Given the description of an element on the screen output the (x, y) to click on. 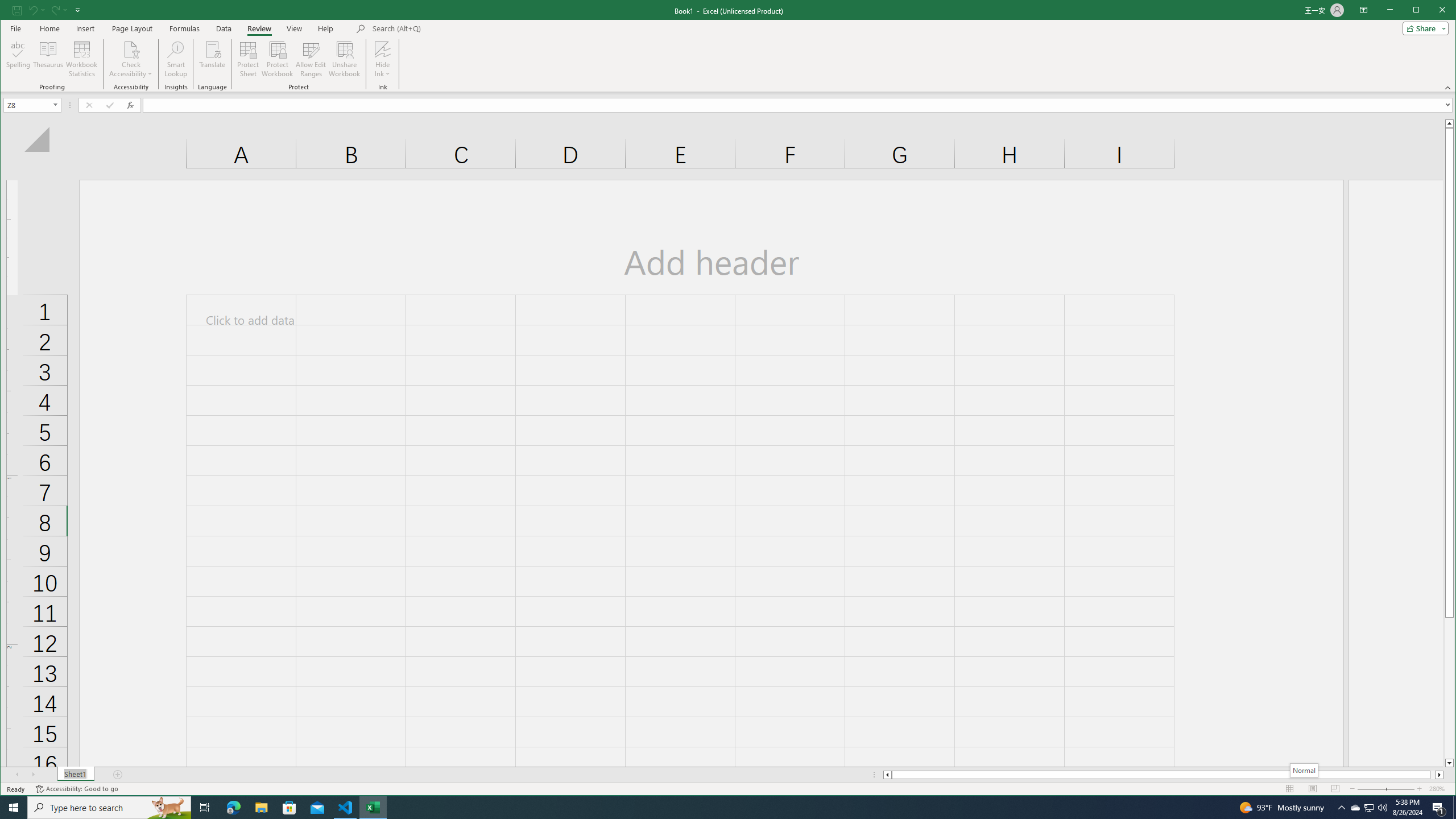
Spelling... (18, 59)
Translate (212, 59)
Thesaurus... (48, 59)
User Promoted Notification Area (1368, 807)
Column left (886, 774)
Visual Studio Code - 1 running window (1355, 807)
Save (345, 807)
File Tab (16, 9)
